Given the description of an element on the screen output the (x, y) to click on. 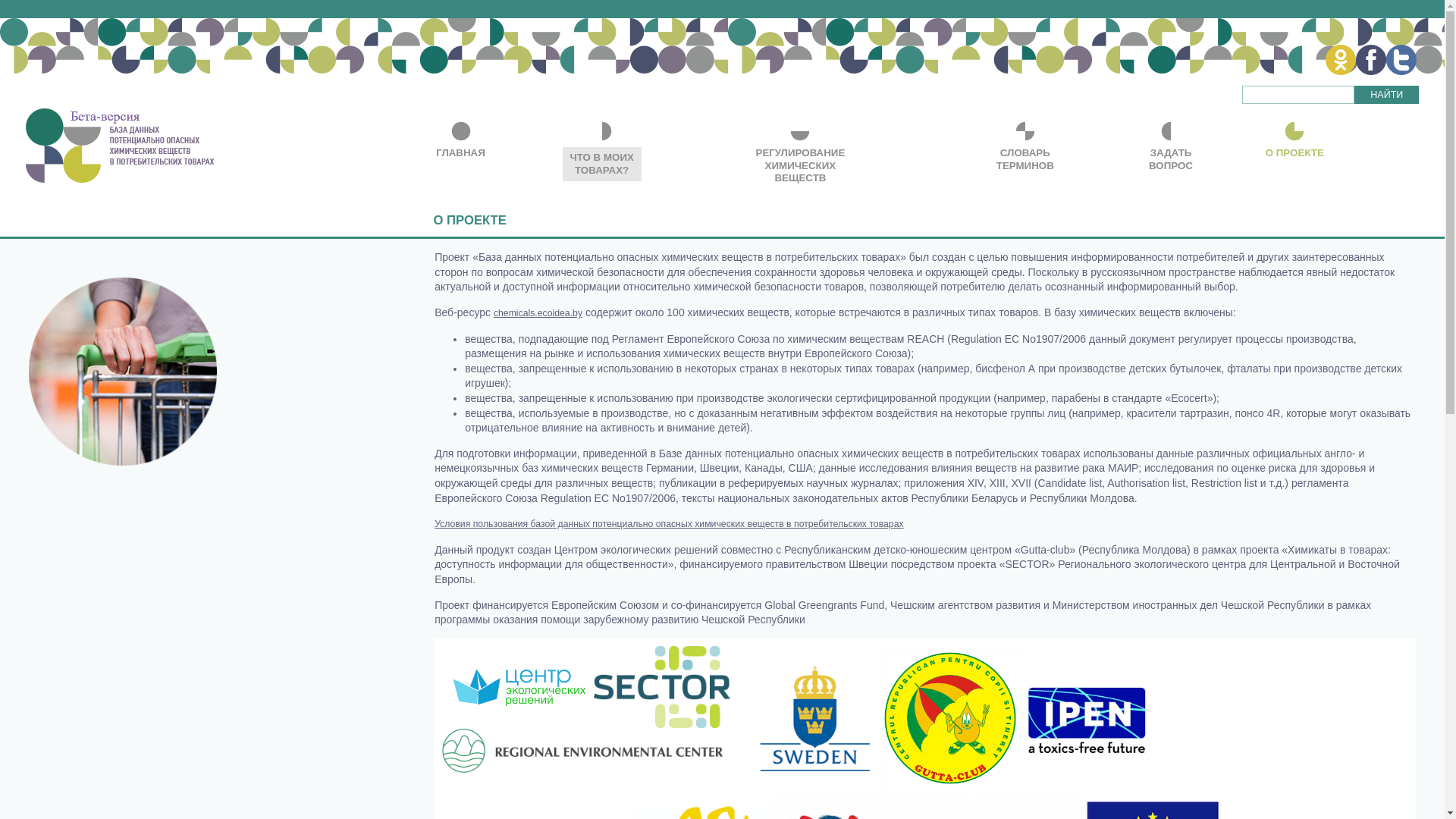
chemicals.ecoidea.by Element type: text (537, 312)
